Given the description of an element on the screen output the (x, y) to click on. 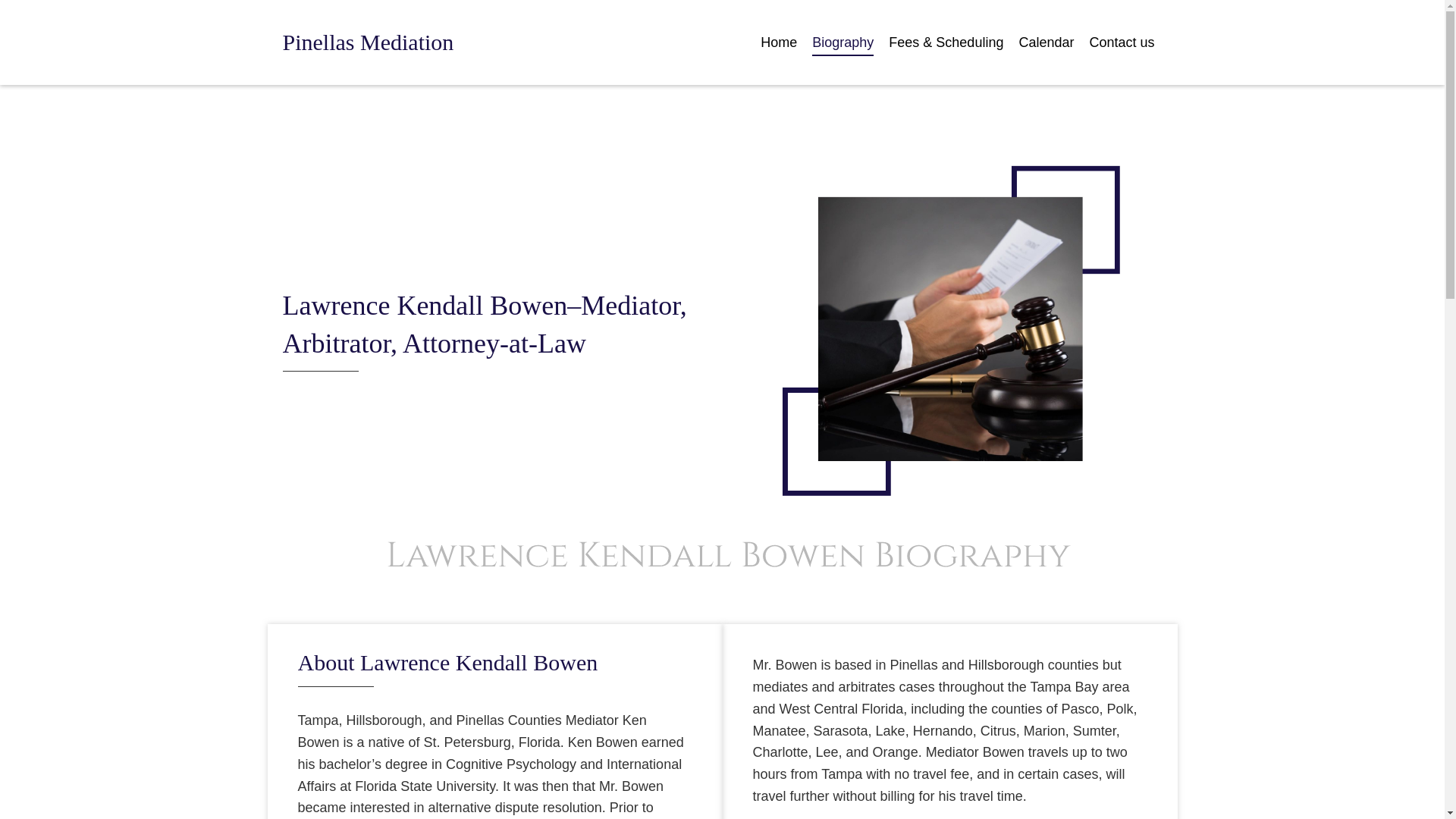
Calendar (1045, 42)
Pinellas Mediation (367, 41)
New-Project-18 (949, 328)
Contact us (1121, 42)
Biography (842, 42)
Home (778, 42)
